Given the description of an element on the screen output the (x, y) to click on. 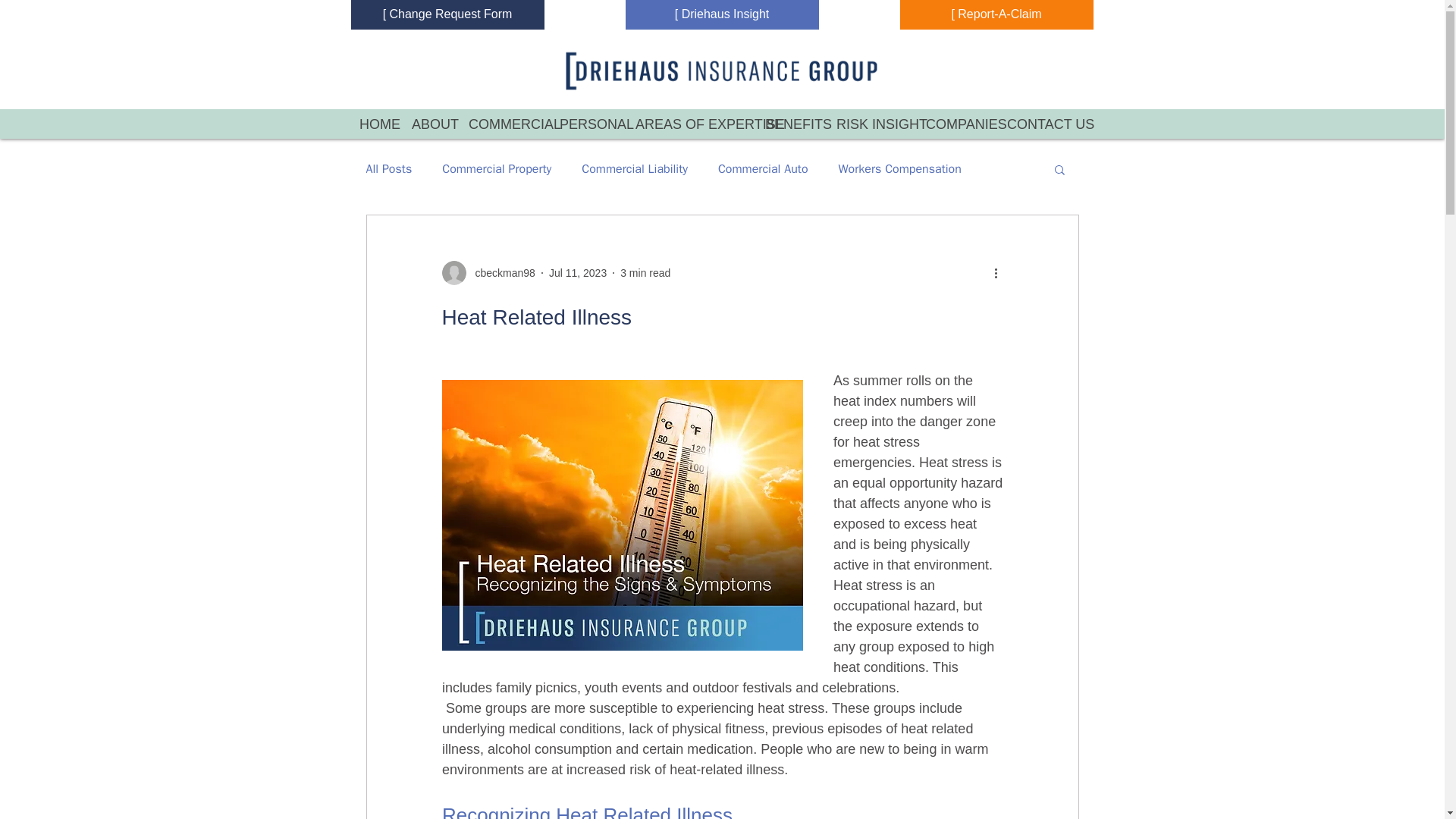
Jul 11, 2023 (577, 272)
3 min read (644, 272)
HOME (372, 124)
cbeckman98 (499, 273)
